Given the description of an element on the screen output the (x, y) to click on. 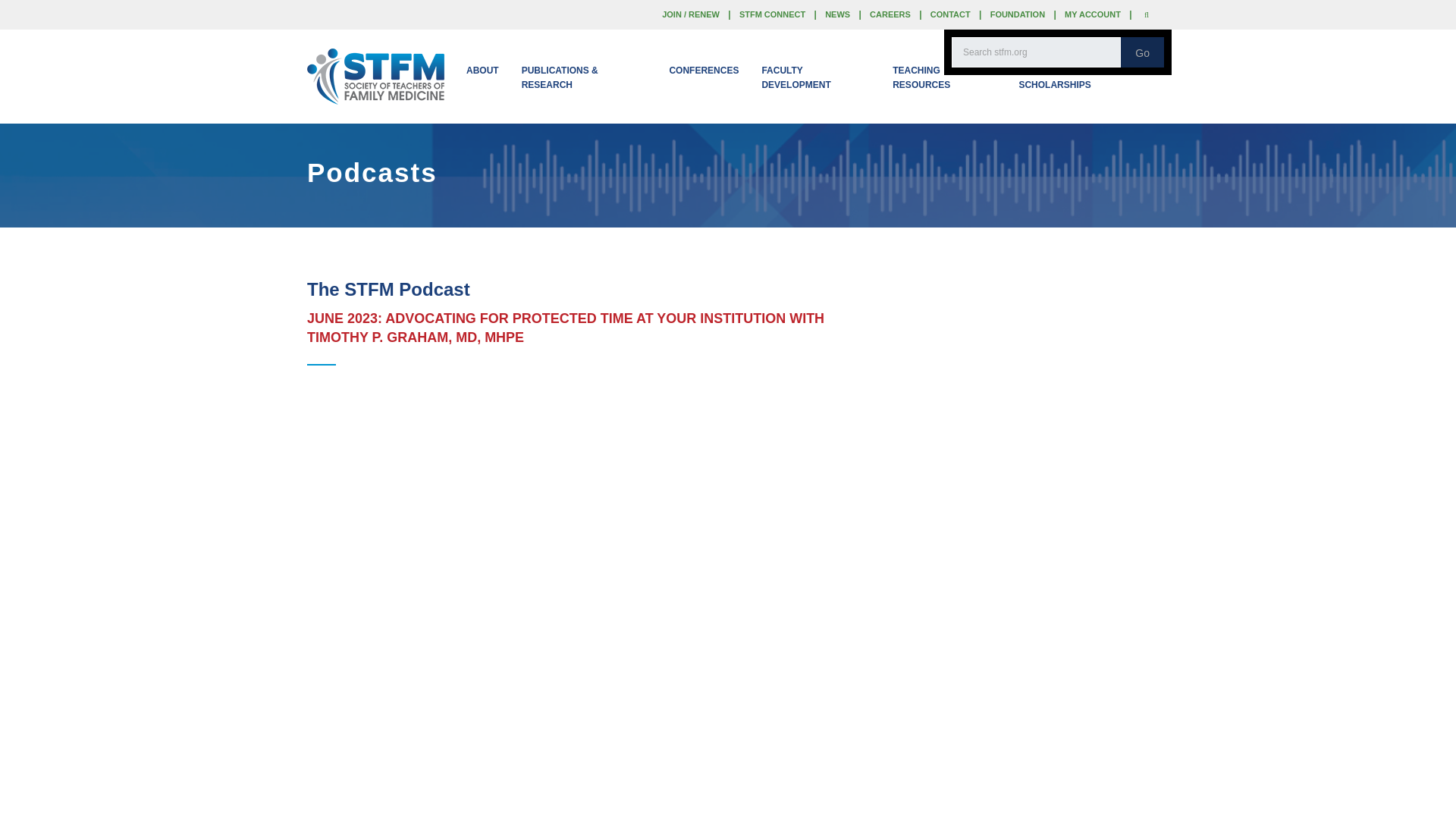
FOUNDATION (1017, 13)
CONTACT (950, 13)
STFM CONNECT (772, 13)
CAREERS (890, 13)
Go (1142, 51)
NEWS (837, 13)
MY ACCOUNT (1092, 13)
